Given the description of an element on the screen output the (x, y) to click on. 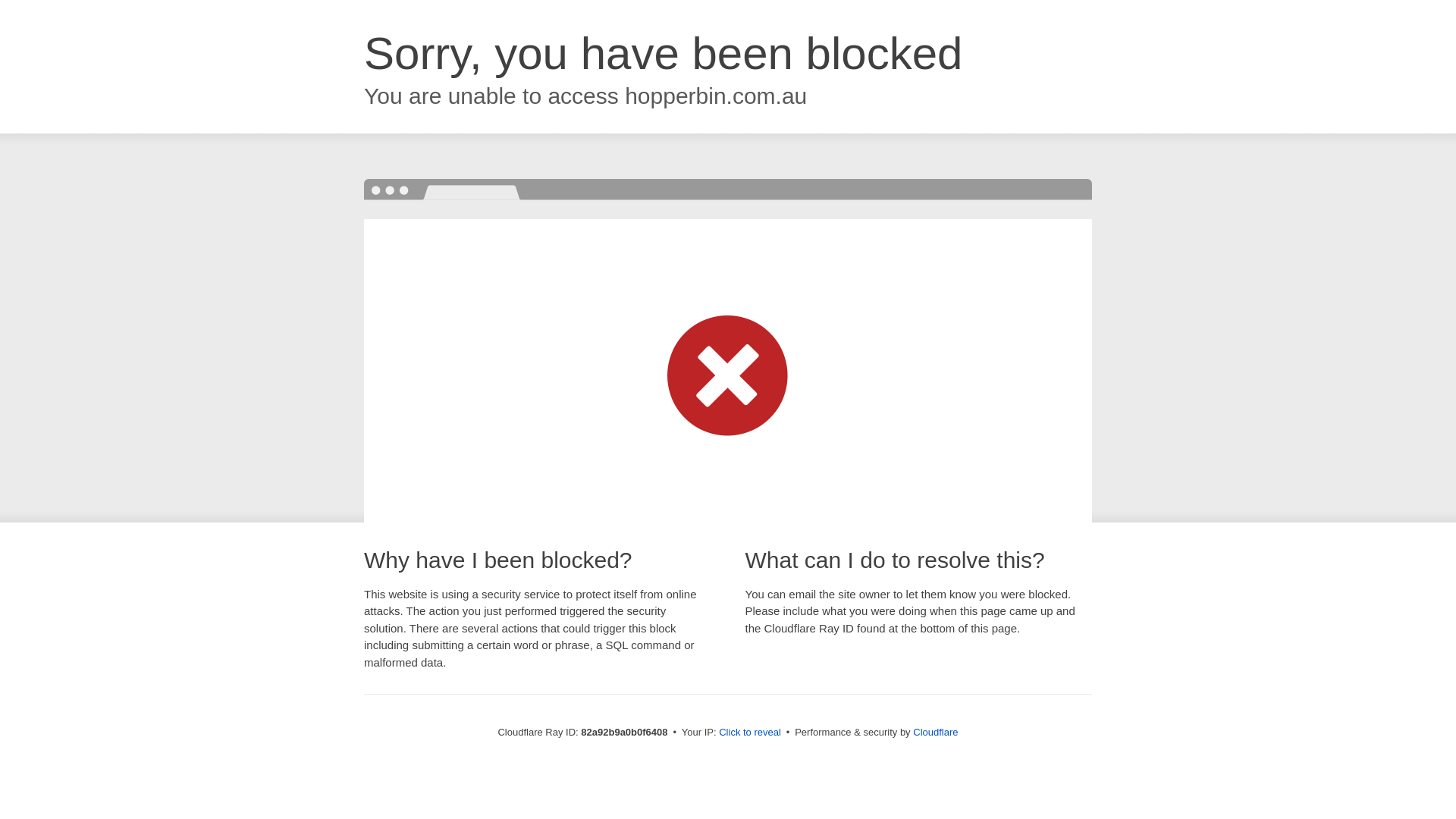
Cloudflare Element type: text (935, 731)
Click to reveal Element type: text (749, 732)
